Given the description of an element on the screen output the (x, y) to click on. 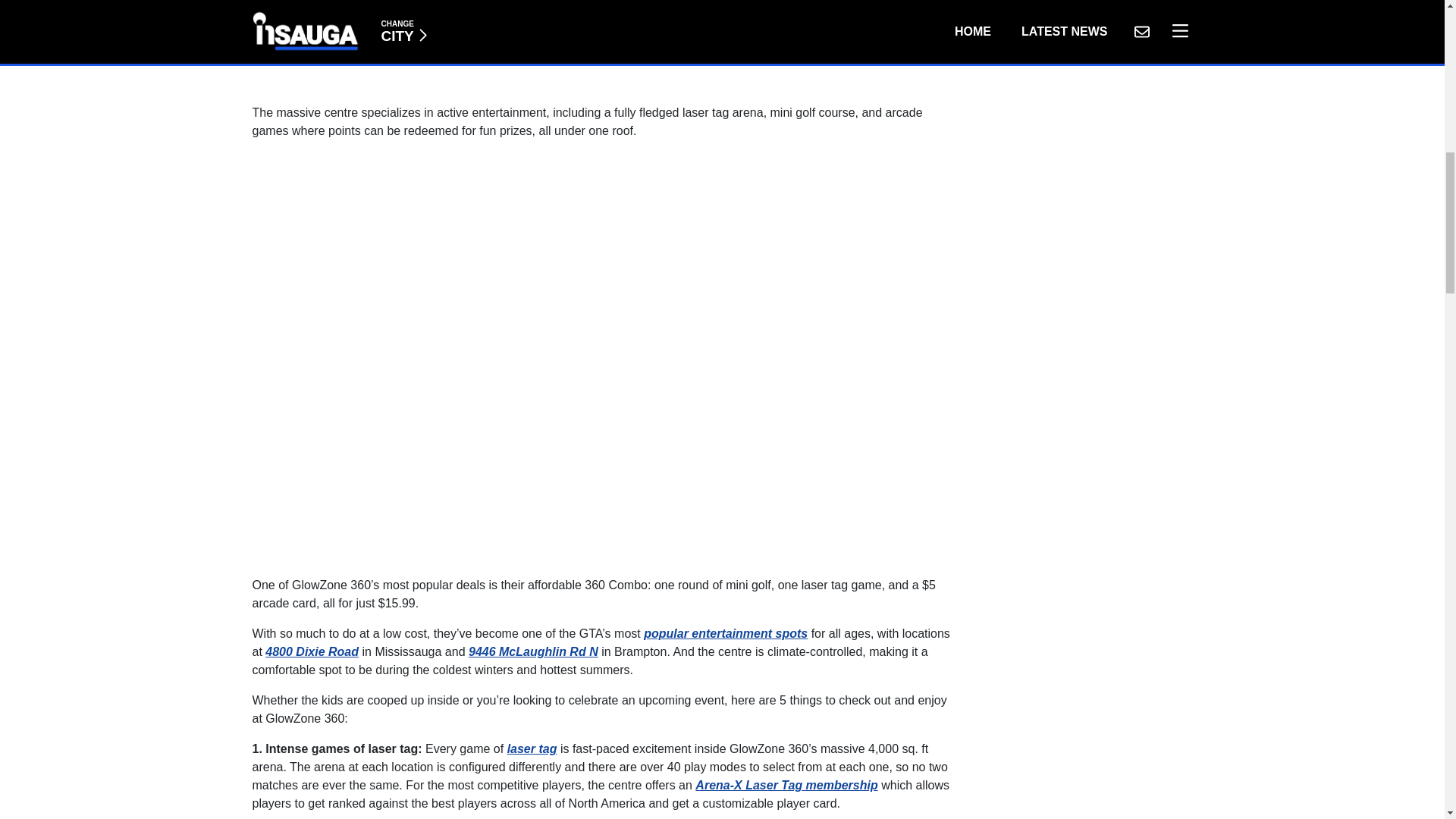
YouTube video player (464, 43)
